Given the description of an element on the screen output the (x, y) to click on. 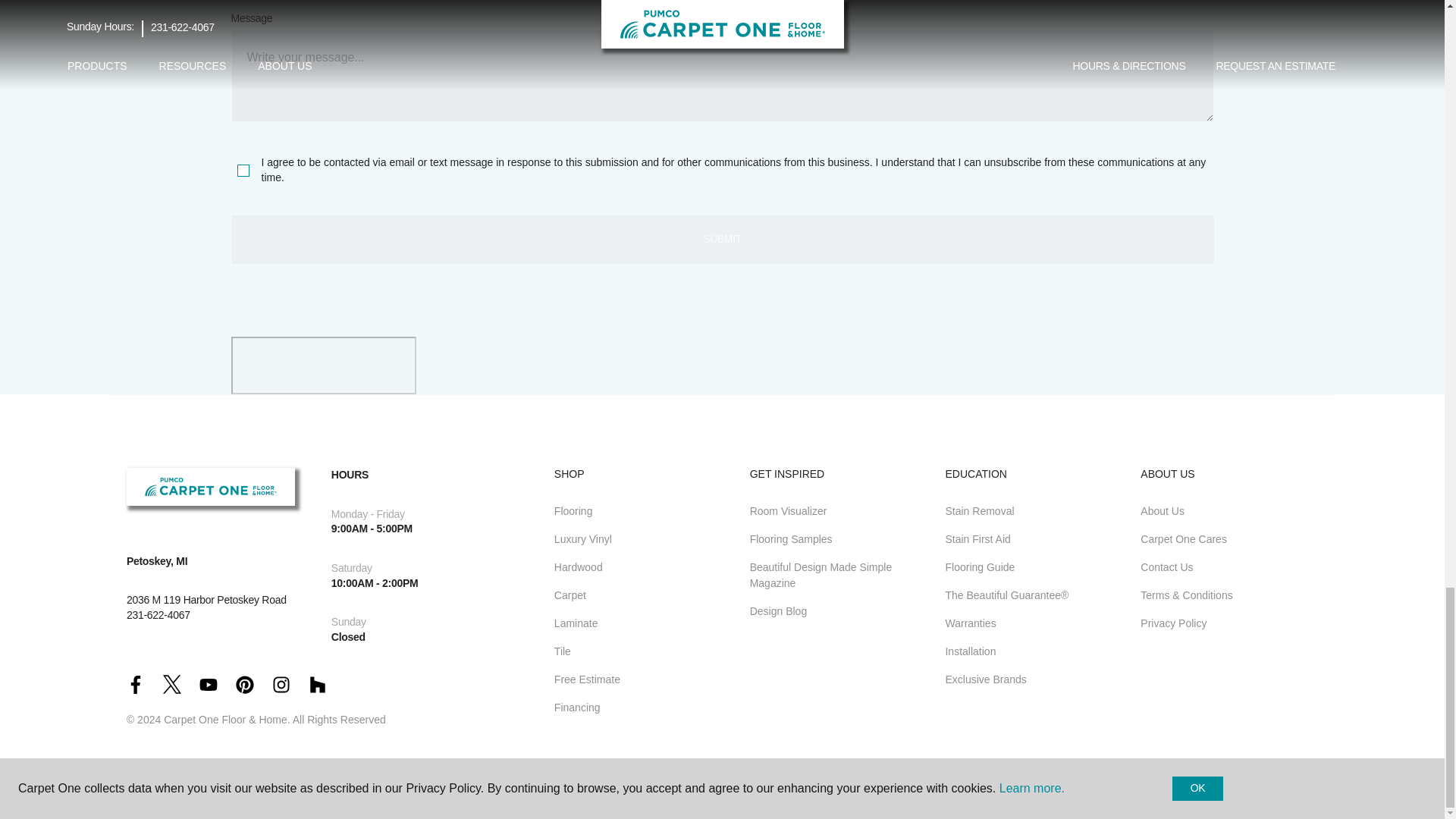
MyMessage (721, 75)
